Given the description of an element on the screen output the (x, y) to click on. 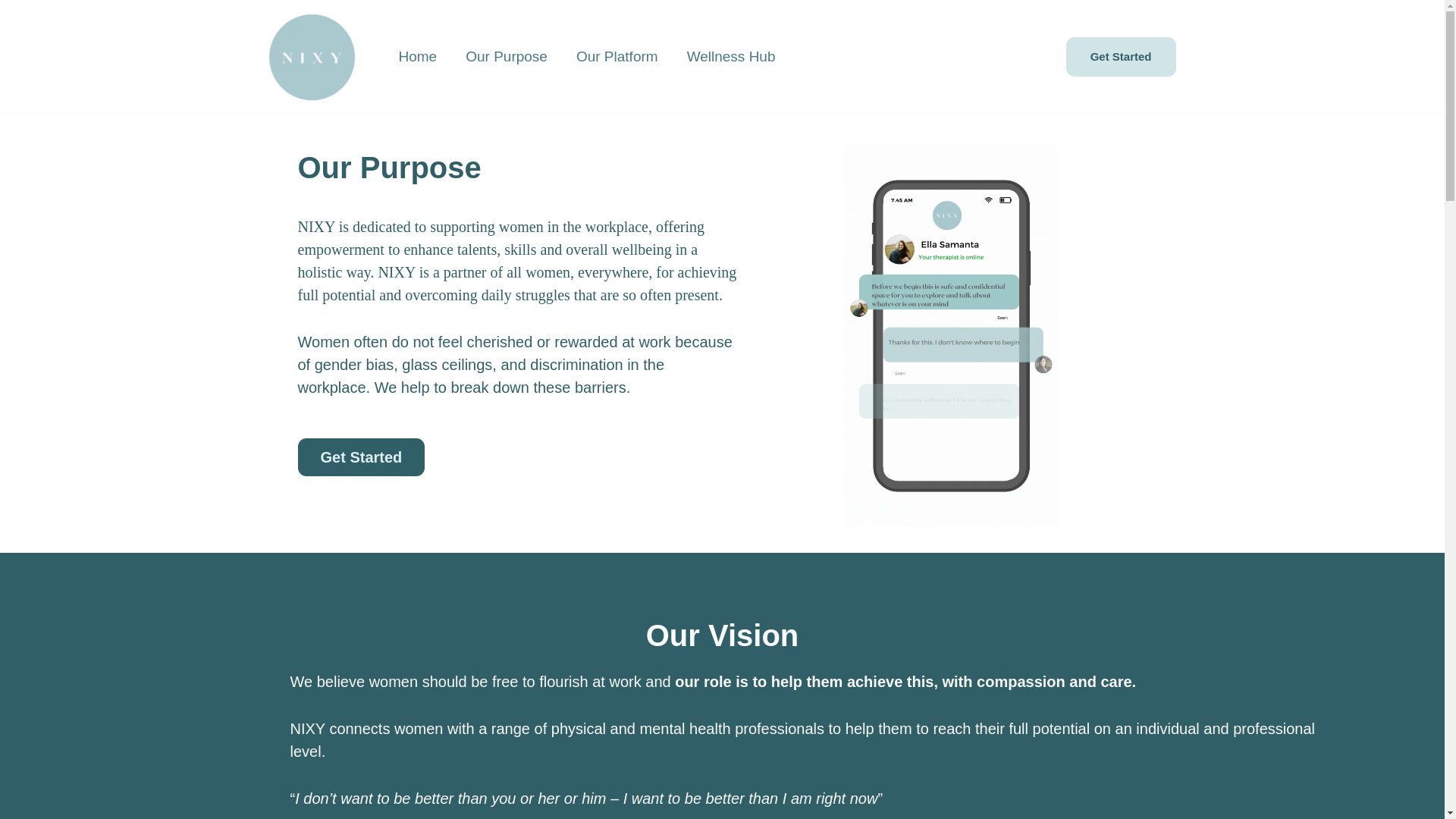
Our Purpose (506, 55)
Get Started (361, 456)
Home (417, 55)
Wellness hub (731, 55)
Our mission (506, 55)
Go to Homepage  (417, 55)
Get Started (1120, 56)
Wellness Hub (731, 55)
Our Platform (617, 55)
book a demo (1120, 56)
